Given the description of an element on the screen output the (x, y) to click on. 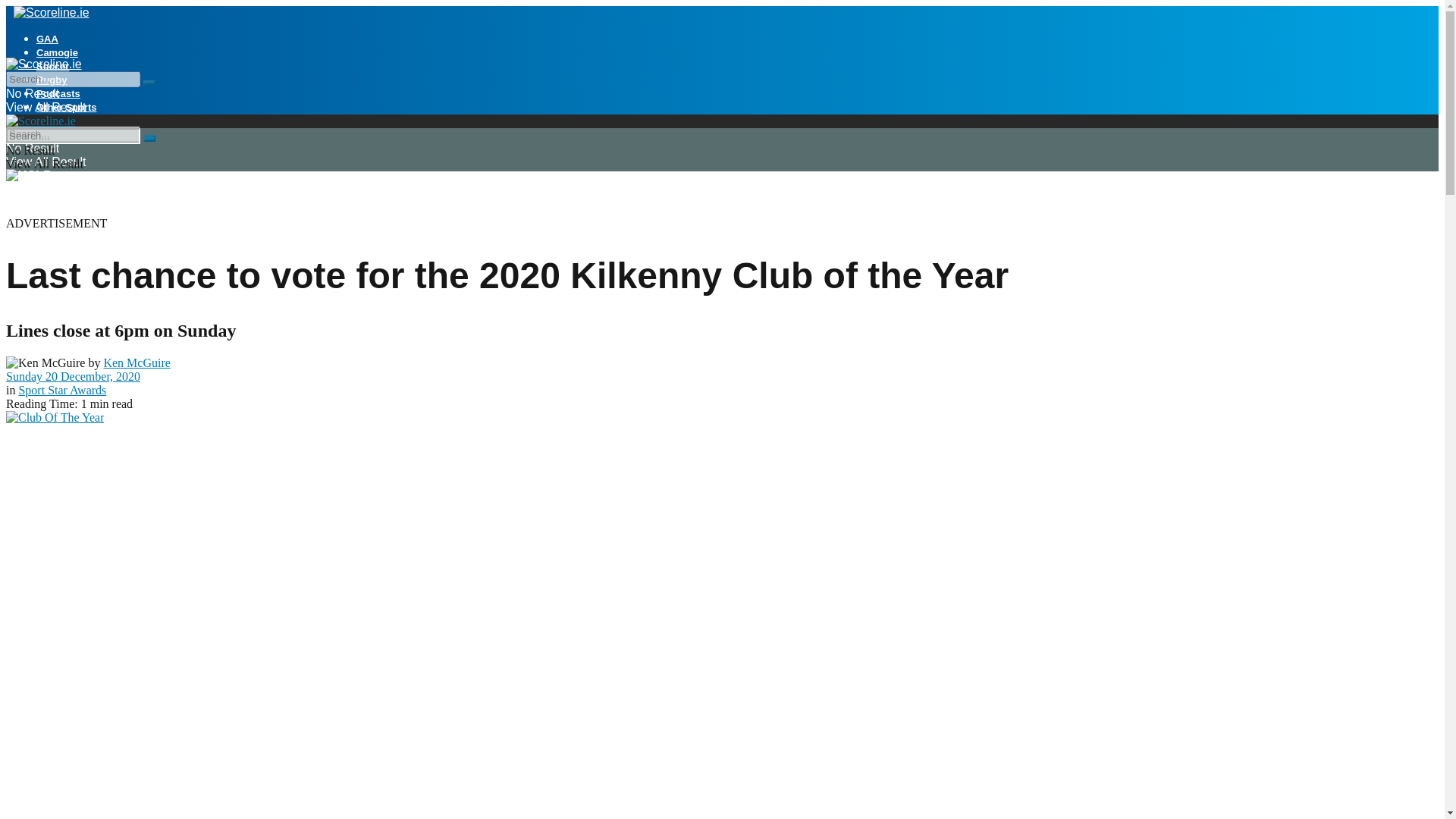
Podcasts (58, 93)
Ken McGuire (136, 362)
Other Sports (66, 107)
Soccer (52, 66)
Camogie (57, 52)
GAA (47, 39)
Sport Star Awards (61, 390)
Rugby (51, 79)
Sunday 20 December, 2020 (72, 376)
